Given the description of an element on the screen output the (x, y) to click on. 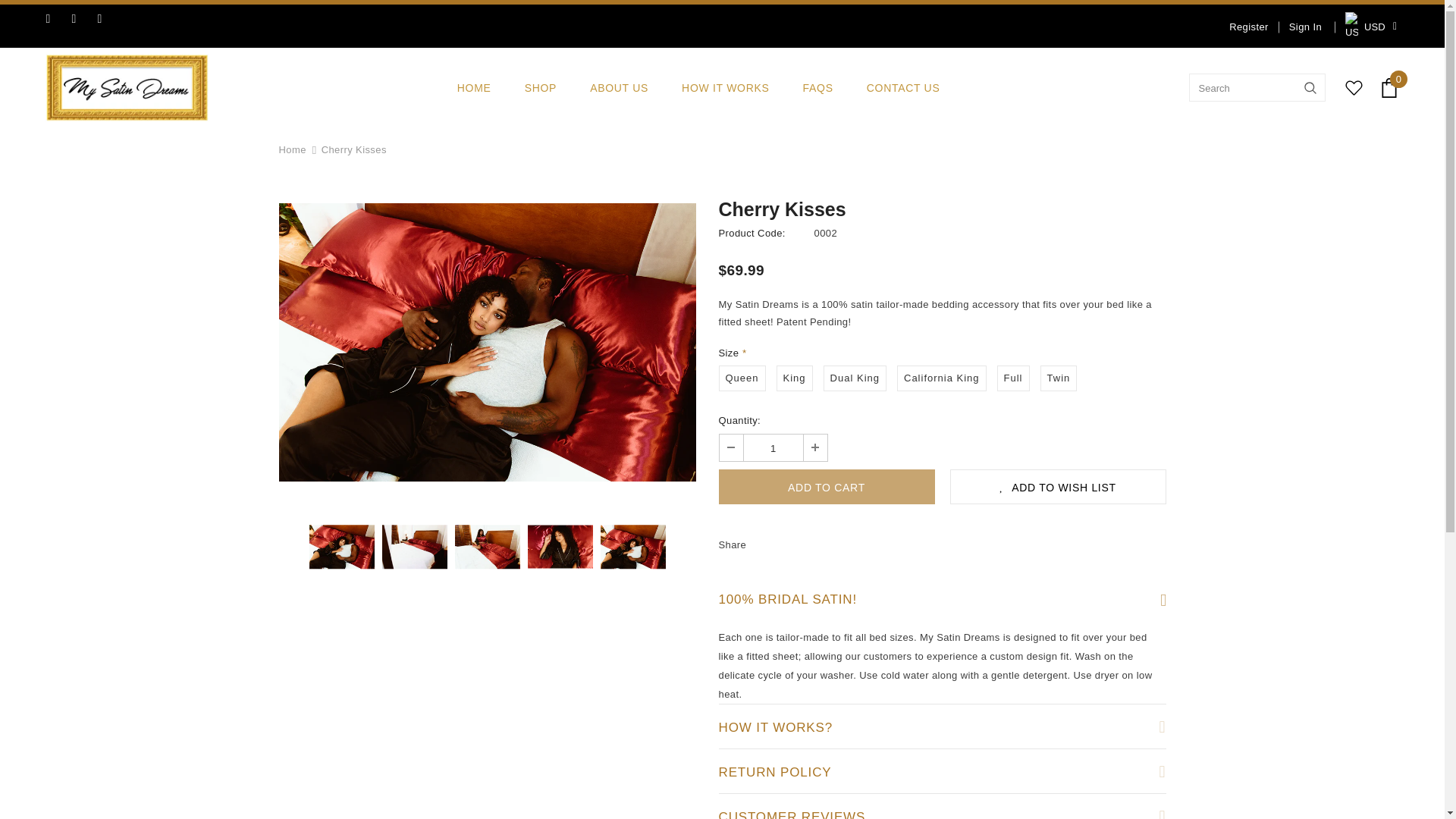
Register (1248, 26)
Instagram (106, 18)
Sign In (1300, 26)
Logo (126, 87)
Add to Cart (826, 486)
Twitter (80, 18)
ABOUT US (618, 87)
Cart Icon (1388, 87)
Home (292, 149)
HOME (474, 87)
SHOP (540, 87)
HOW IT WORKS (724, 87)
0 (1388, 87)
1 (772, 447)
Facebook (54, 18)
